Given the description of an element on the screen output the (x, y) to click on. 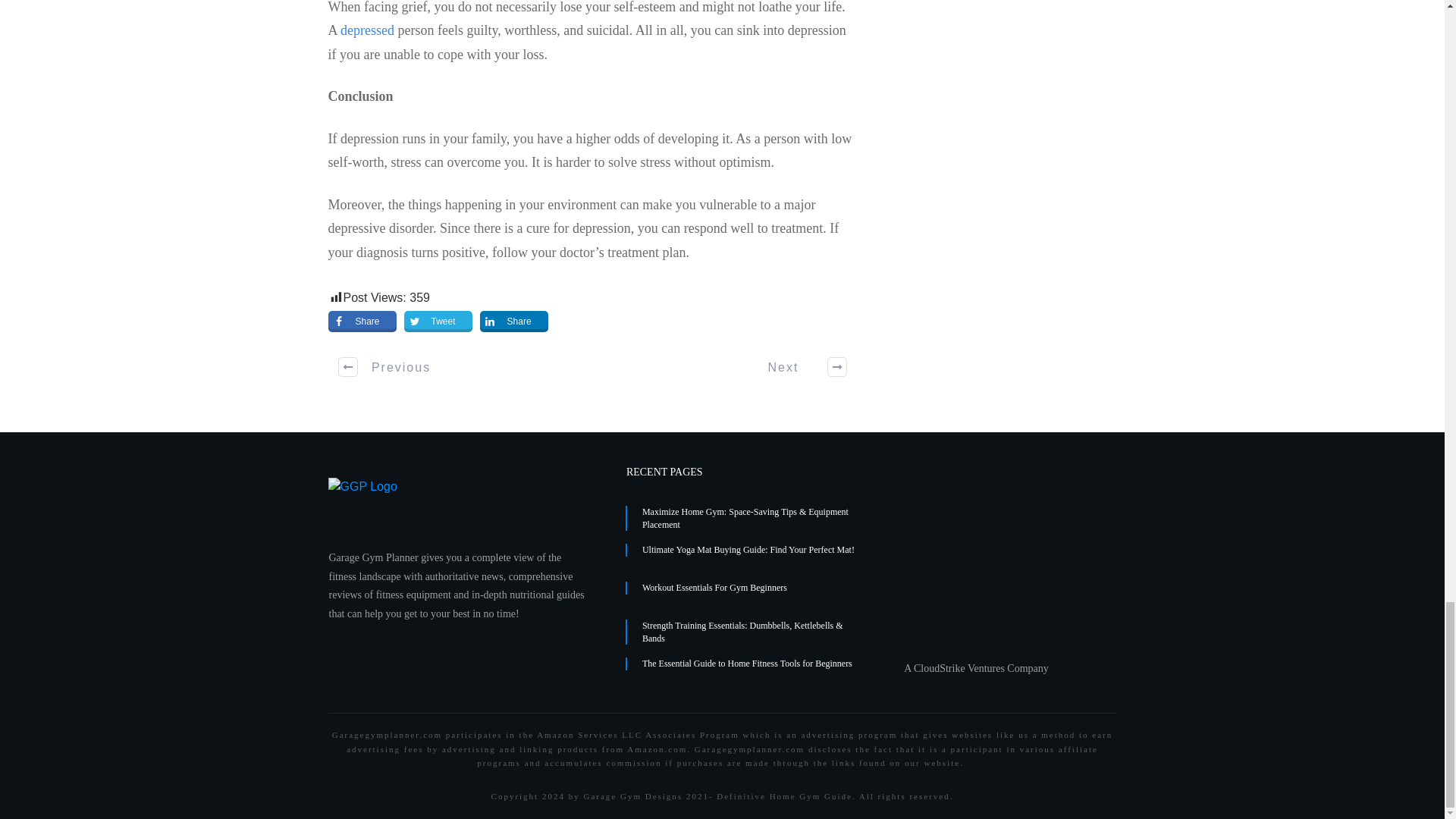
Workout Essentials For Gym Beginners (714, 587)
Awarded top 20 gym blog (984, 559)
Tweet (437, 321)
Ultimate Yoga Mat Buying Guide: Find Your Perfect Mat! (748, 549)
depressed (368, 29)
Share (361, 321)
Previous (385, 366)
The Essential Guide to Home Fitness Tools for Beginners (746, 663)
Next (798, 366)
Share (514, 321)
